Given the description of an element on the screen output the (x, y) to click on. 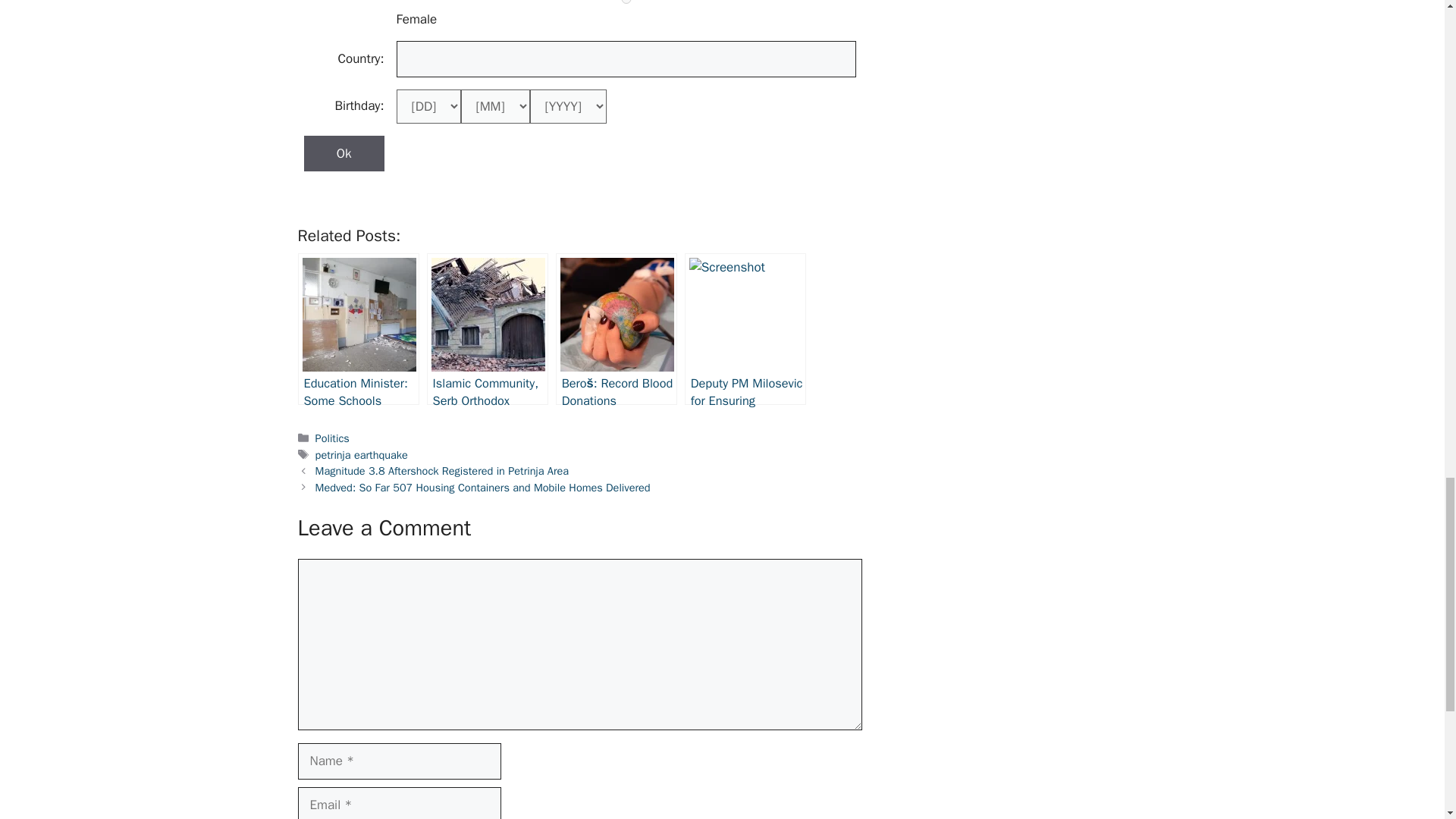
Ok (343, 153)
